Given the description of an element on the screen output the (x, y) to click on. 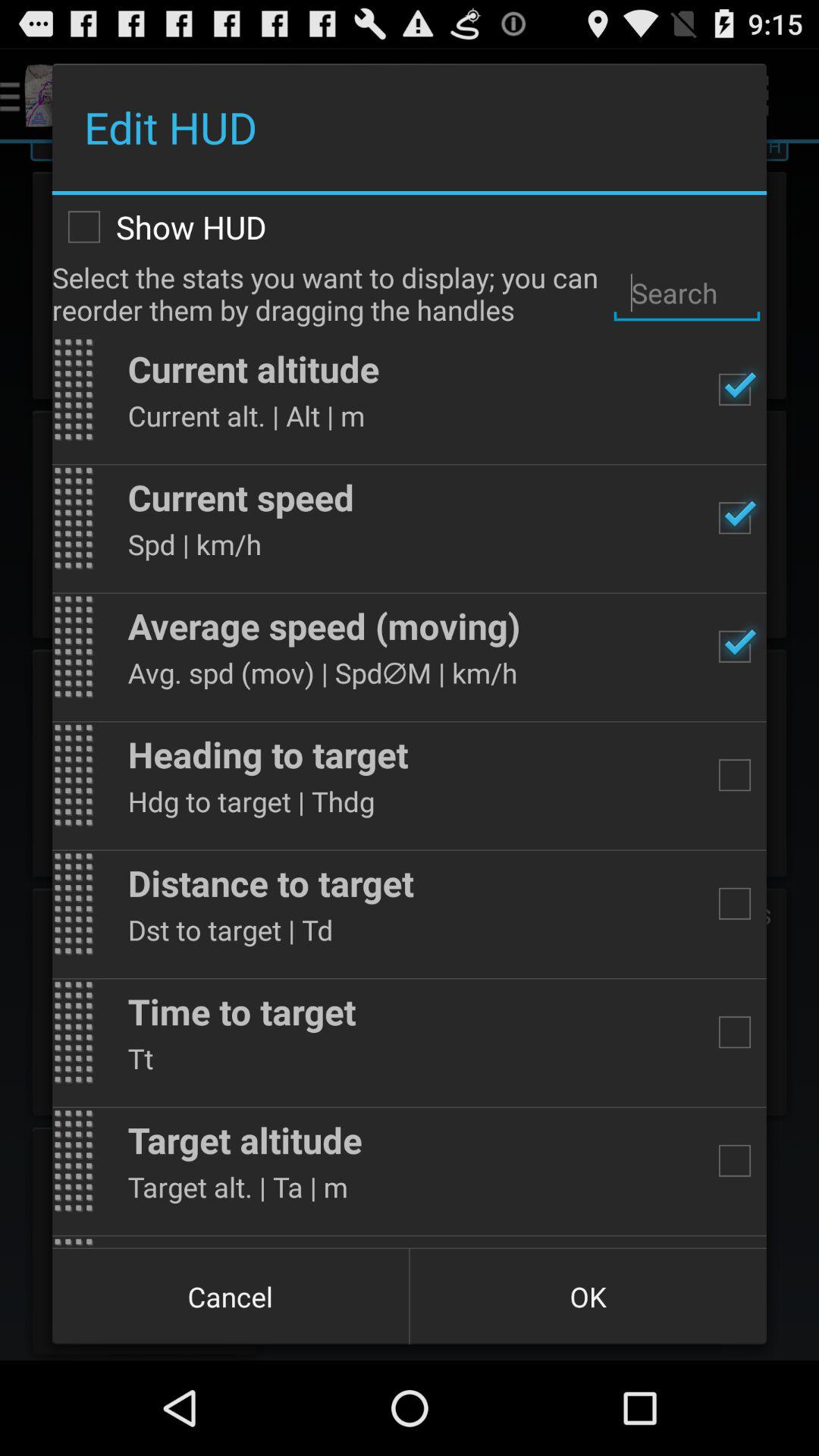
tap the cancel icon (230, 1296)
